Given the description of an element on the screen output the (x, y) to click on. 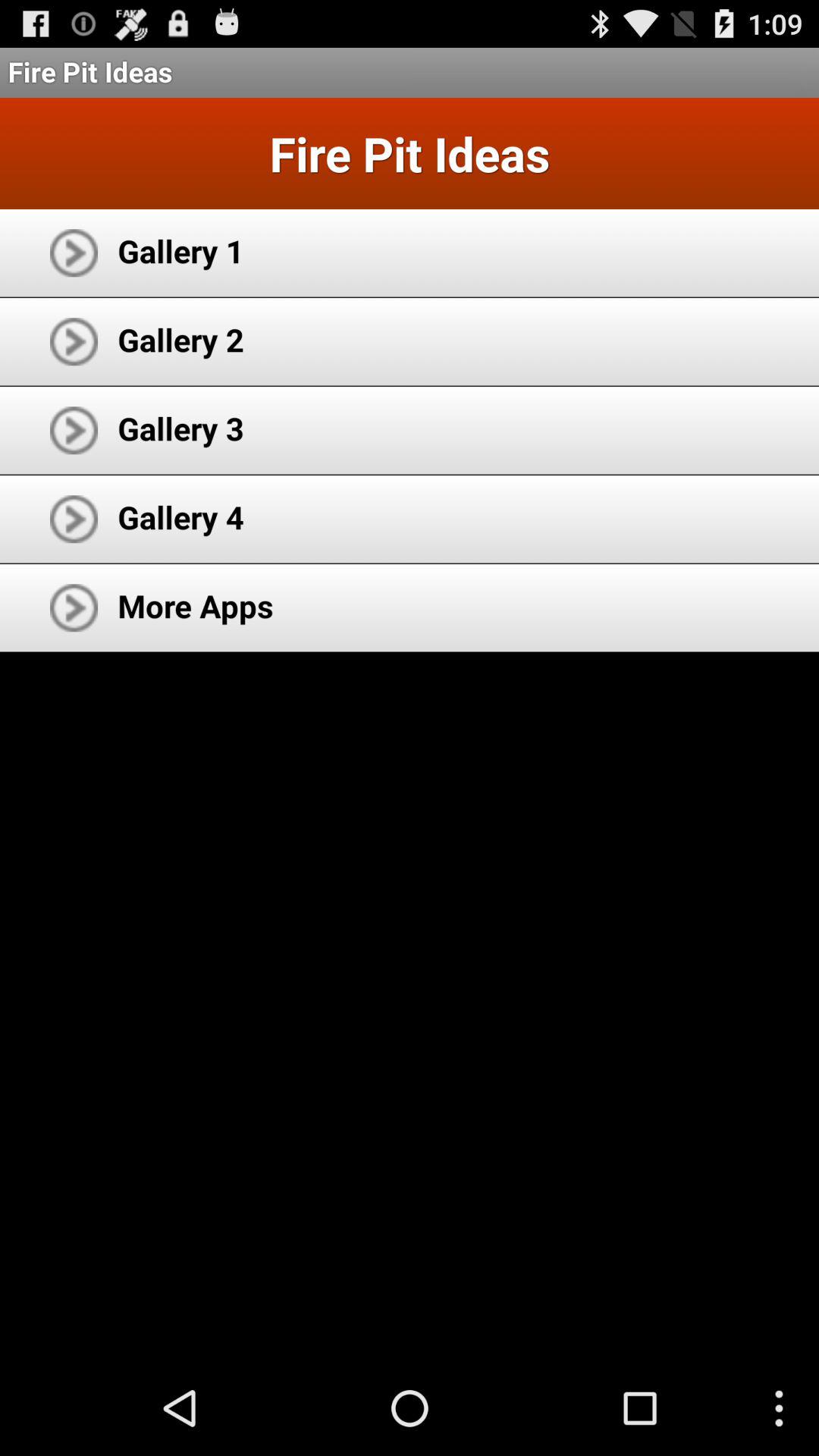
turn off gallery 2 item (180, 339)
